Given the description of an element on the screen output the (x, y) to click on. 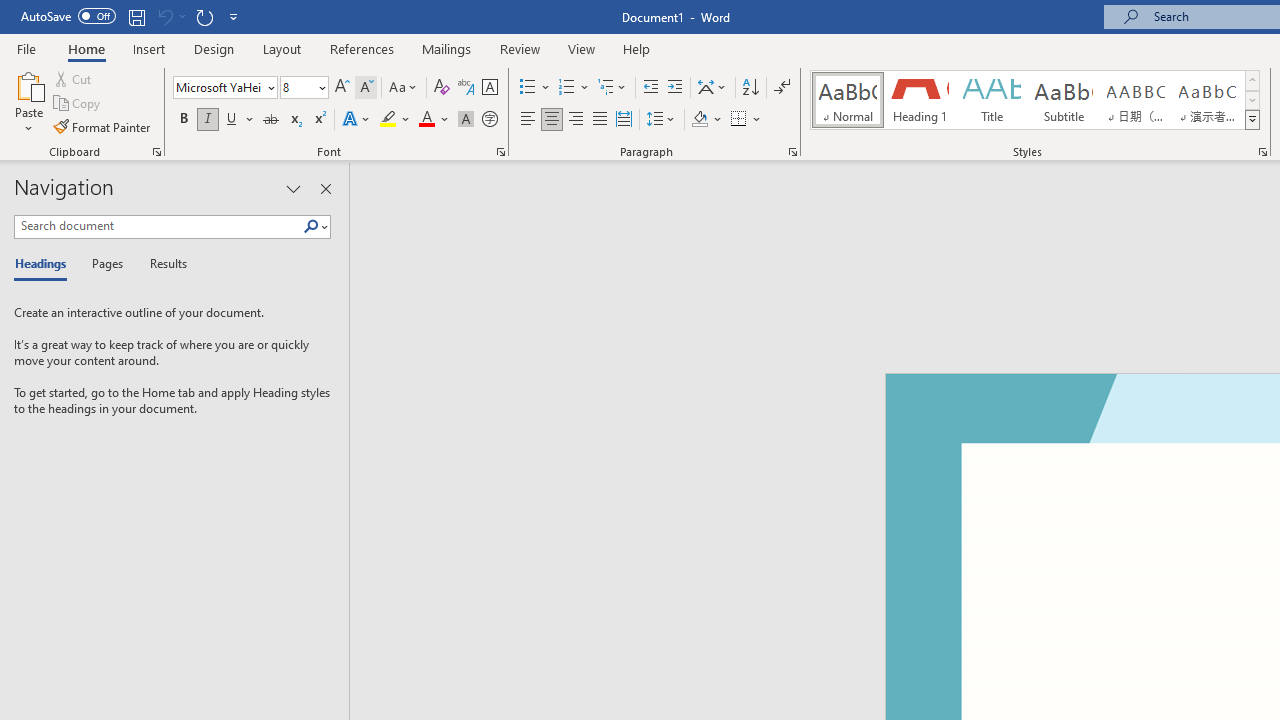
Results (161, 264)
Customize Quick Access Toolbar (234, 15)
Asian Layout (712, 87)
Text Highlight Color Yellow (388, 119)
